Given the description of an element on the screen output the (x, y) to click on. 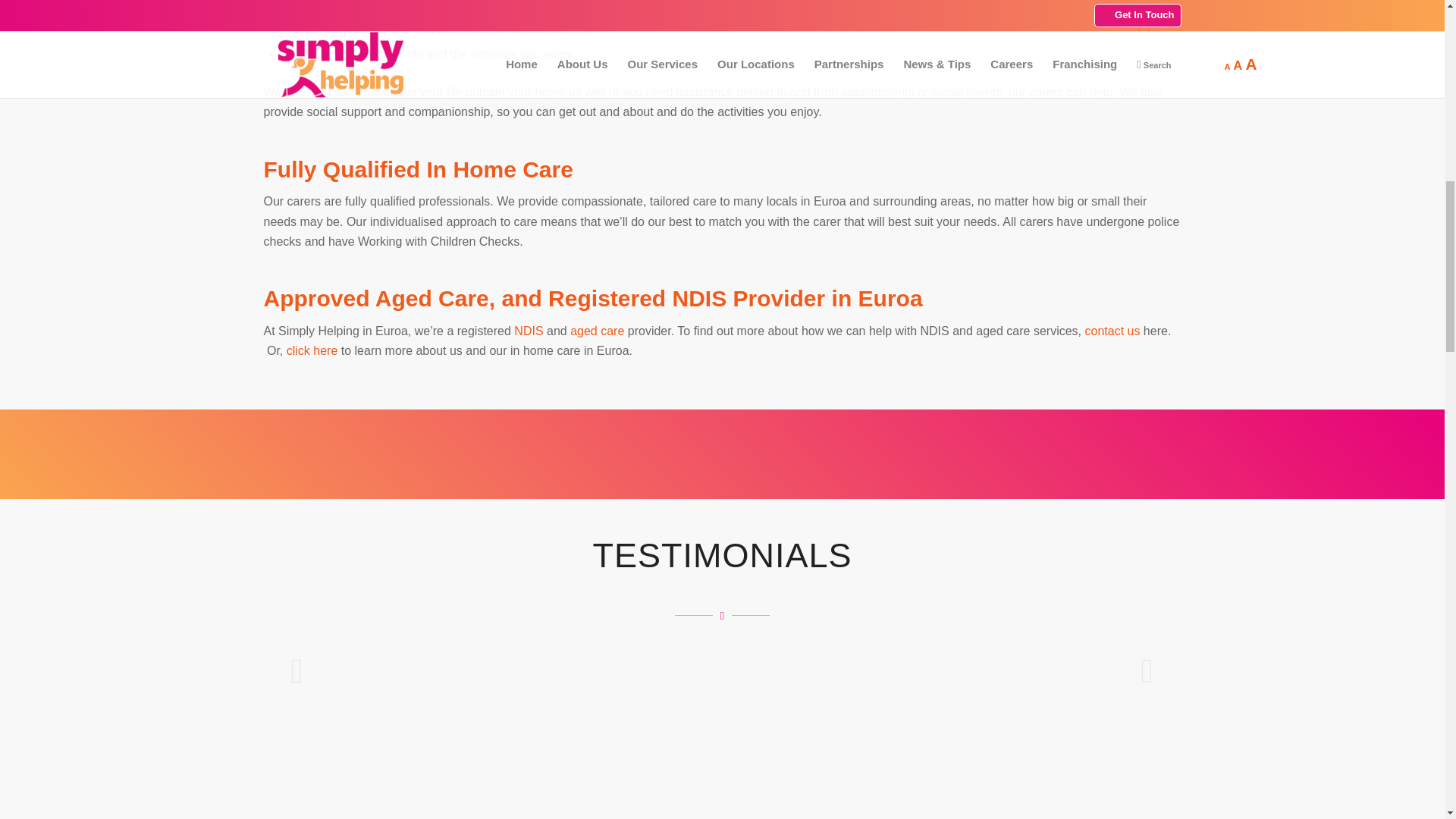
contact us (1112, 330)
aged care (597, 330)
Previous (297, 669)
click here (311, 350)
NDIS (528, 330)
Next (1146, 669)
